Given the description of an element on the screen output the (x, y) to click on. 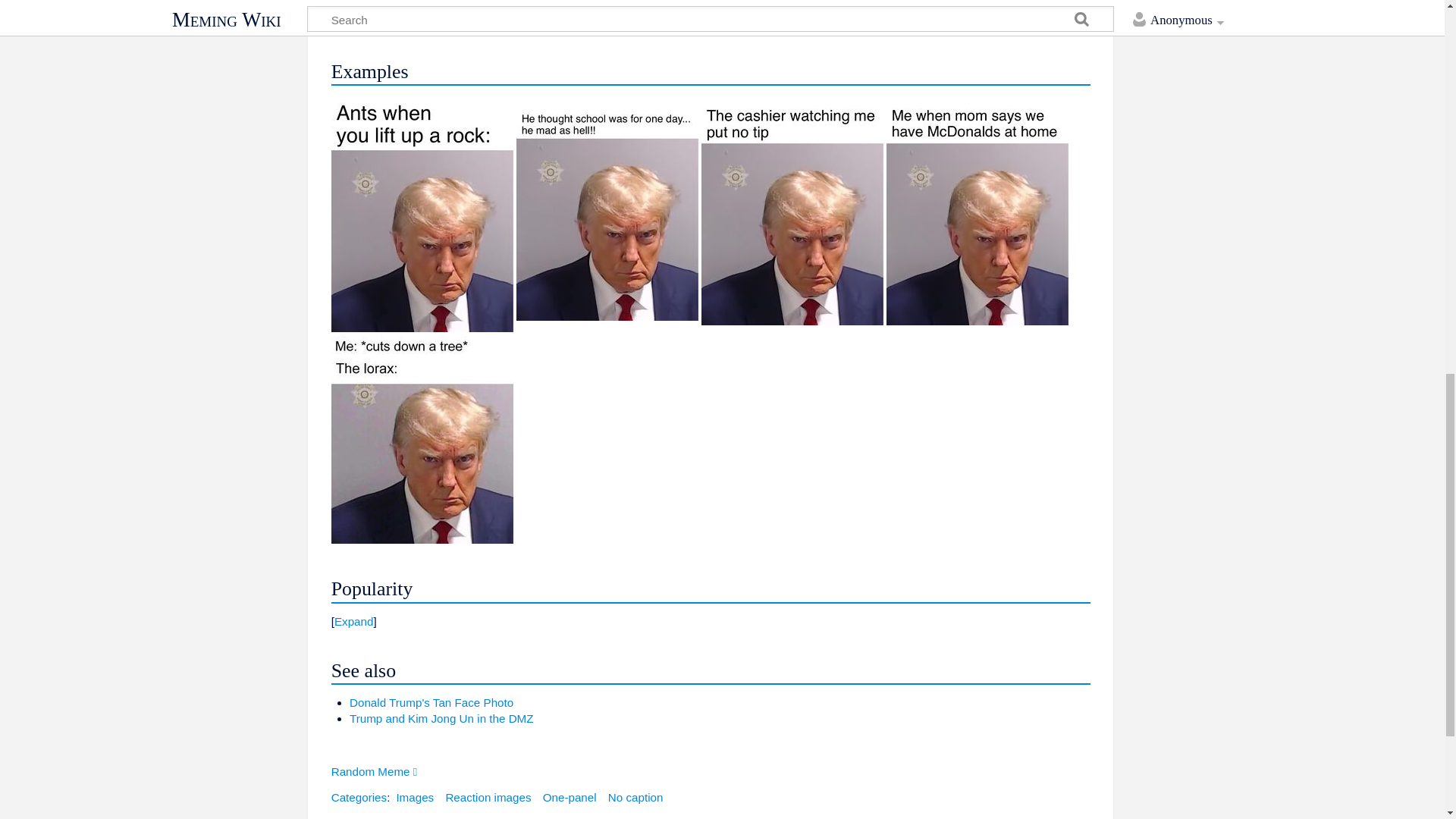
Expand (354, 621)
No caption (635, 797)
Category:One-panel (569, 797)
Special:Categories (359, 797)
Category:Reaction images (488, 797)
Trump and Kim Jong Un in the DMZ (441, 717)
Special:Random (374, 771)
One-panel (569, 797)
Categories (359, 797)
Donald Trump's Tan Face Photo (431, 702)
